Given the description of an element on the screen output the (x, y) to click on. 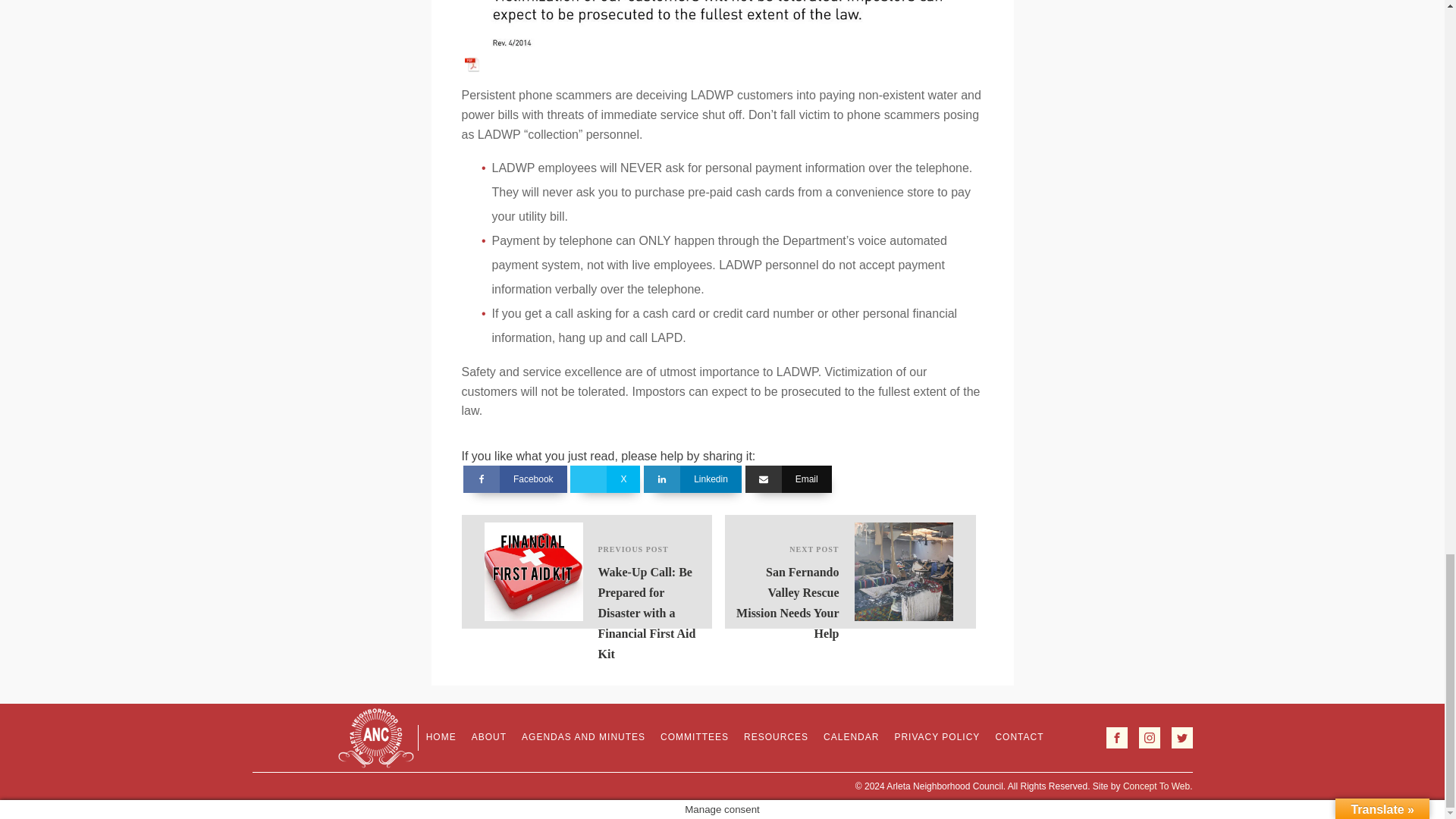
ABOUT (488, 737)
AGENDAS AND MINUTES (582, 737)
HOME (441, 737)
CALENDAR (850, 737)
X (605, 479)
Email (788, 479)
RESOURCES (775, 737)
Linkedin (692, 479)
COMMITTEES (694, 737)
